Given the description of an element on the screen output the (x, y) to click on. 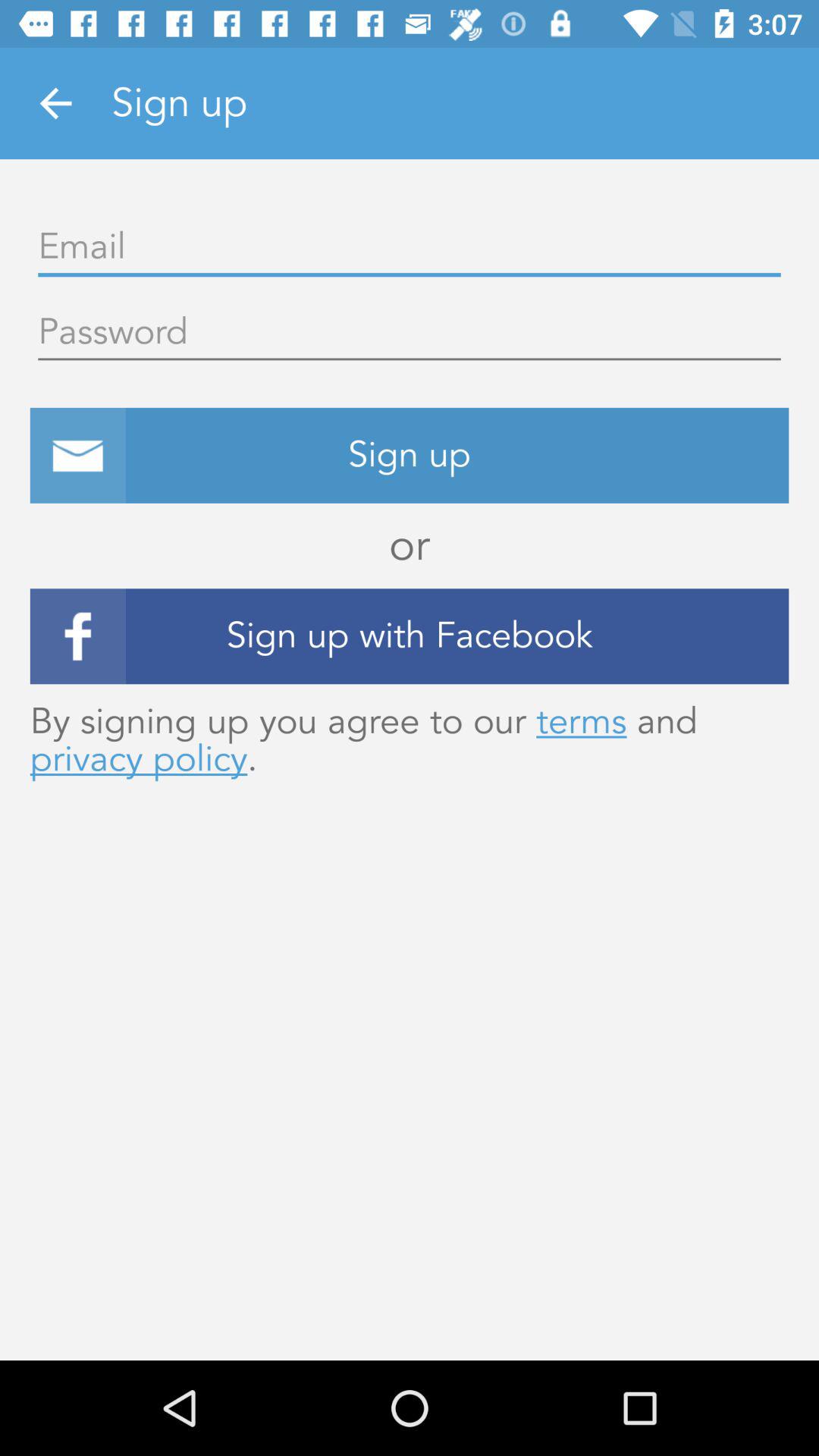
open the icon at the top left corner (55, 103)
